Given the description of an element on the screen output the (x, y) to click on. 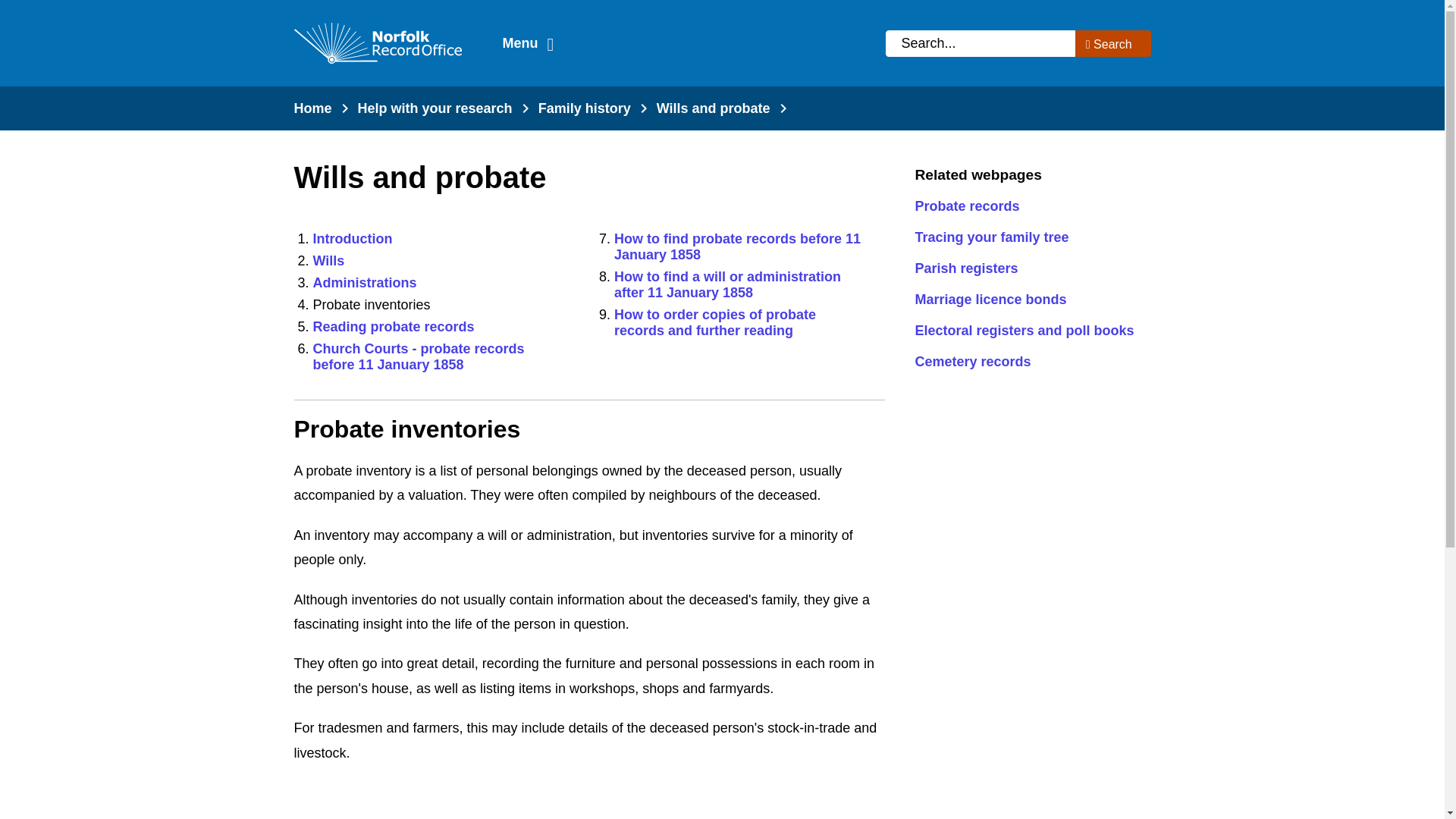
Help with your research (435, 108)
Marriage licence bonds (1026, 299)
Skip to main content (11, 11)
Wills (328, 260)
Home (312, 108)
Tracing your family tree (1026, 237)
Church Courts - probate records before 11 January 1858 (377, 42)
How to find a will or administration after 11 January 1858 (418, 356)
How to find probate records before 11 January 1858 (727, 284)
Wills and probate (737, 246)
Introduction (713, 108)
Administrations (352, 238)
Electoral registers and poll books (364, 282)
Menu (1026, 330)
